Given the description of an element on the screen output the (x, y) to click on. 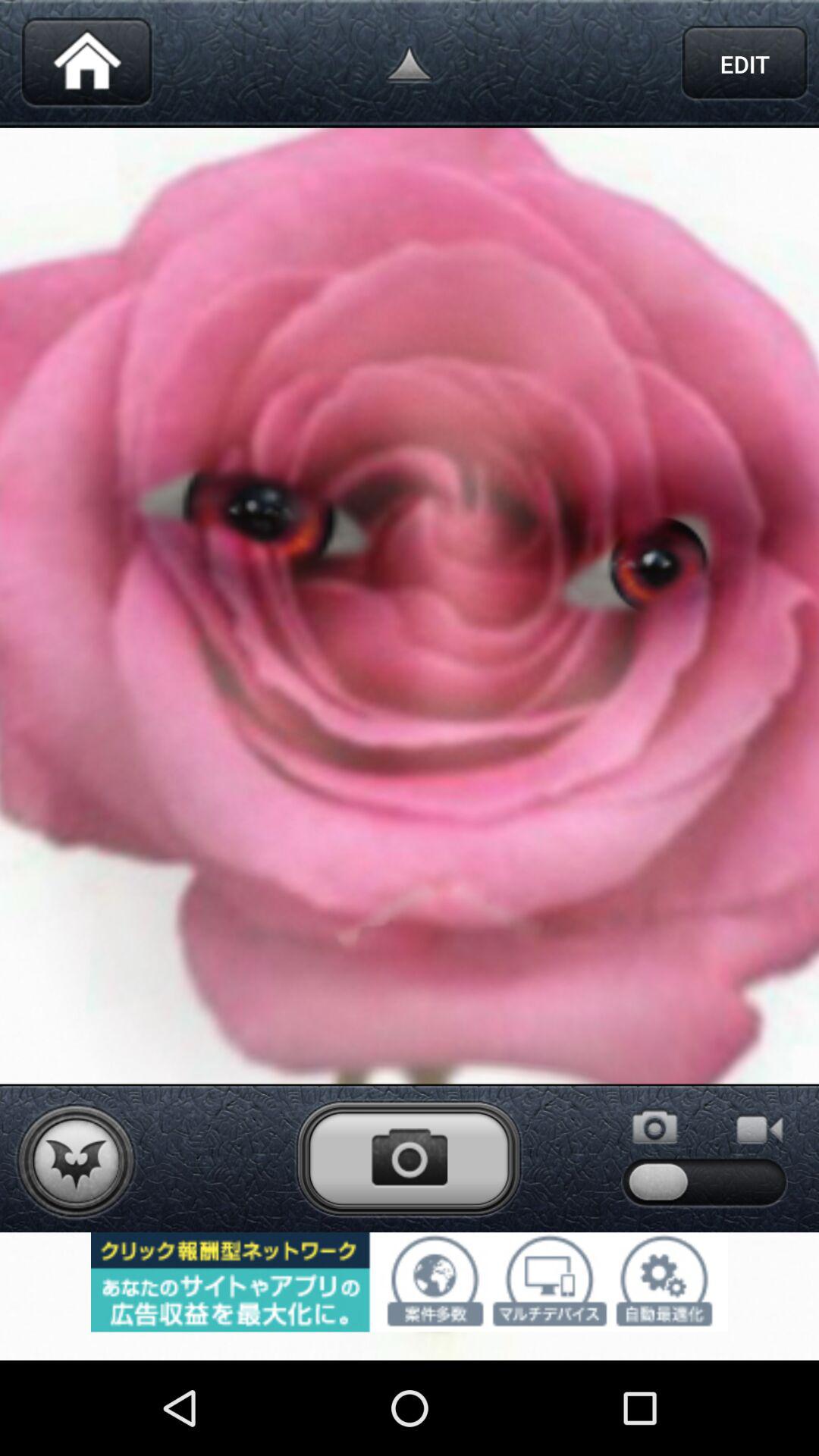
return to home (86, 63)
